Given the description of an element on the screen output the (x, y) to click on. 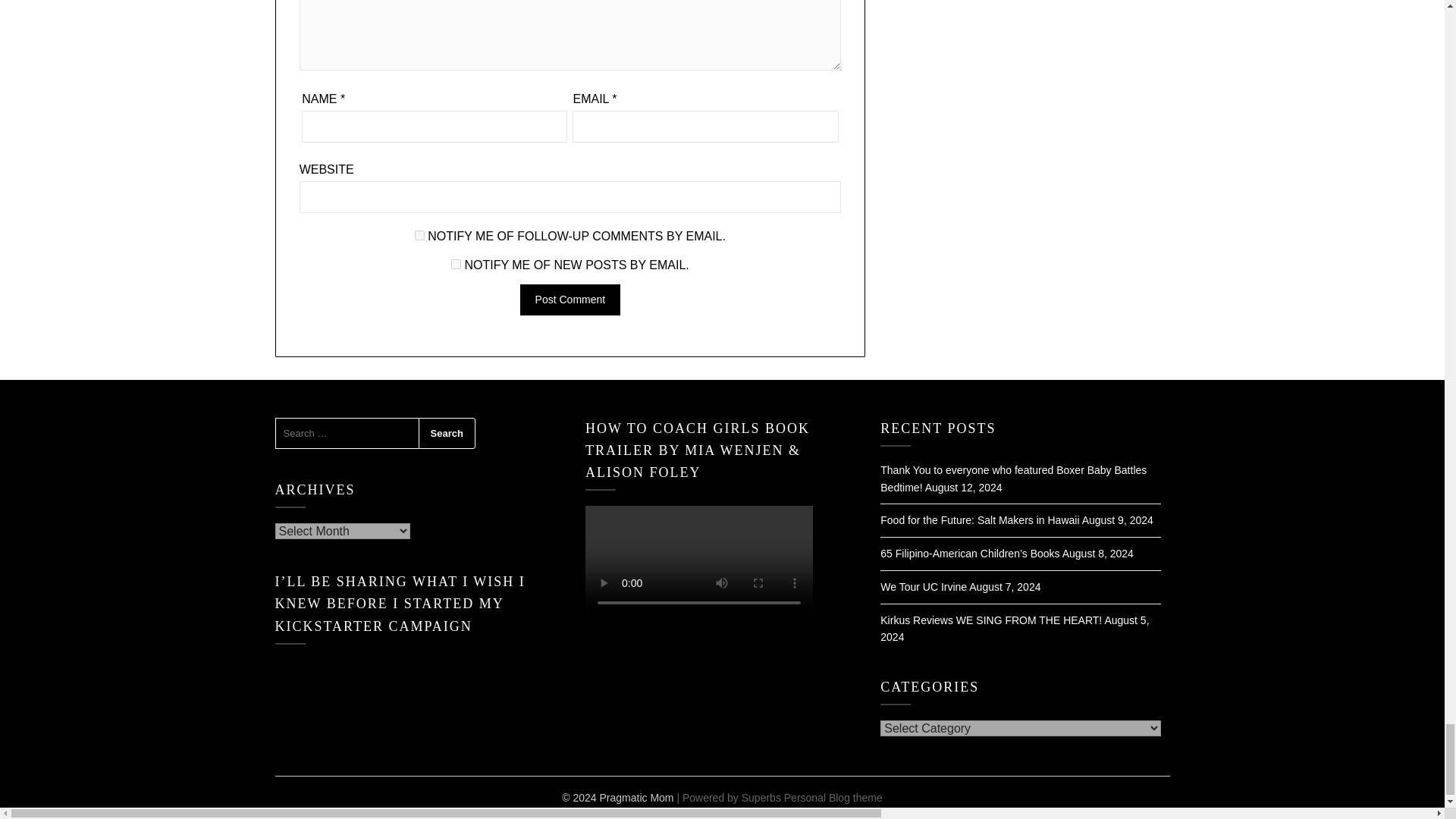
Search (447, 433)
subscribe (419, 235)
Post Comment (570, 299)
Search (447, 433)
subscribe (456, 264)
